Given the description of an element on the screen output the (x, y) to click on. 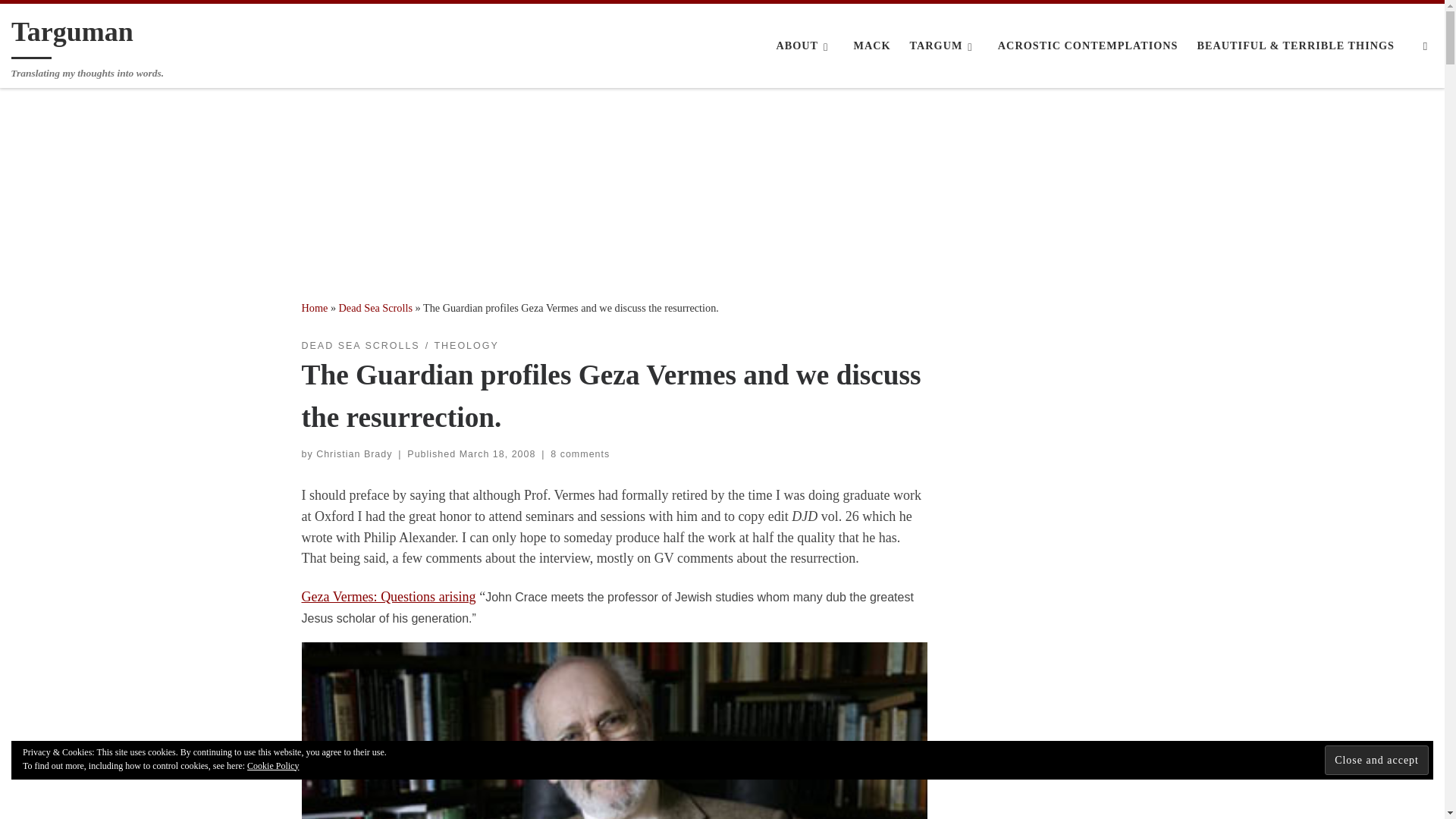
View all posts in Theology (465, 345)
Geza Vermes (388, 596)
Targuman (315, 307)
ACROSTIC CONTEMPLATIONS (1087, 45)
Close and accept (1376, 758)
TARGUM (944, 45)
Skip to content (57, 20)
View all posts in Dead Sea Scrolls (360, 345)
MACK (871, 45)
Targuman (72, 34)
View all posts by Christian Brady (353, 453)
Dead Sea Scrolls (375, 307)
ABOUT (805, 45)
2:59 pm (497, 453)
